Given the description of an element on the screen output the (x, y) to click on. 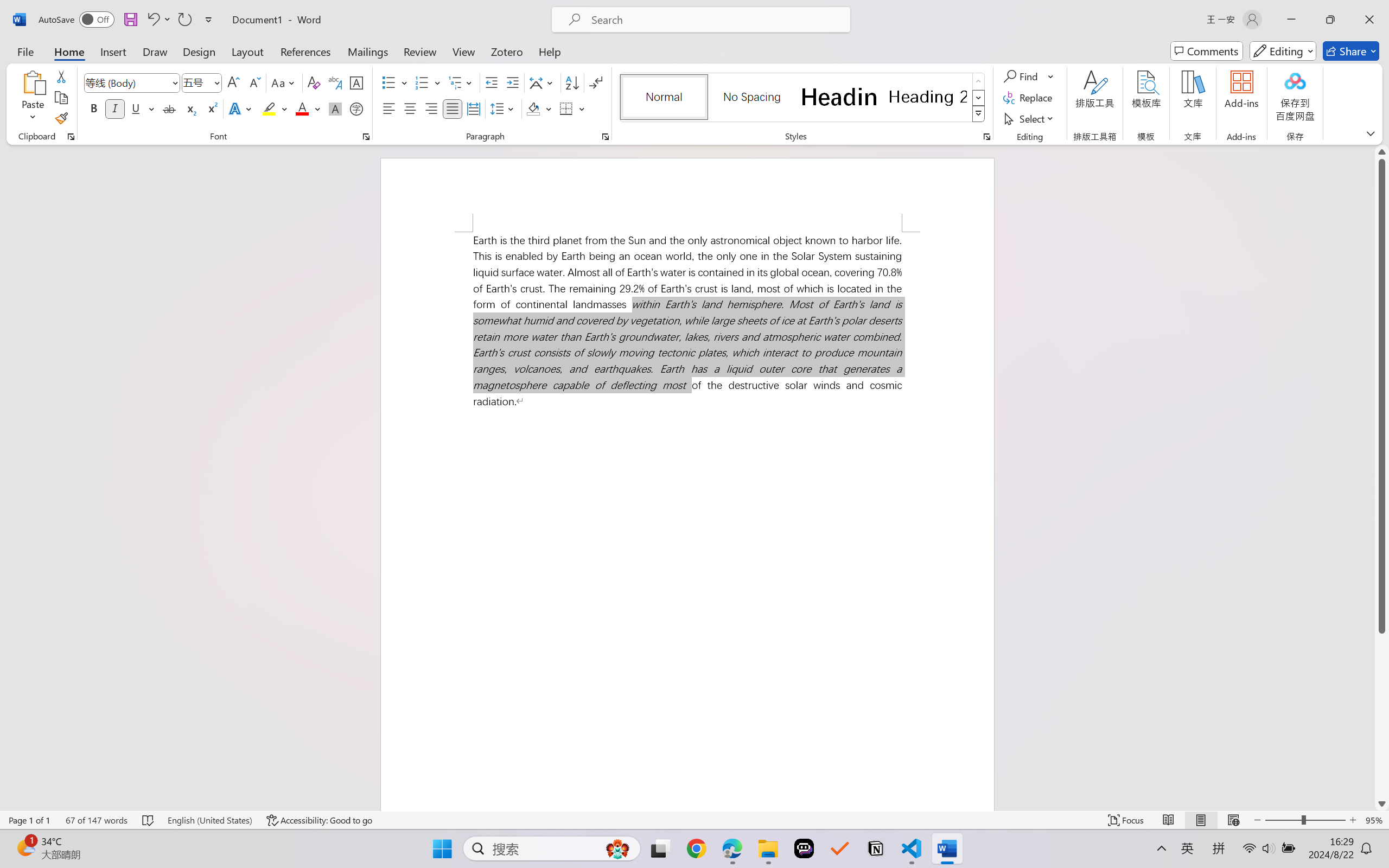
Office Clipboard... (70, 136)
Help (549, 51)
Styles... (986, 136)
Cut (60, 75)
Center (409, 108)
